Given the description of an element on the screen output the (x, y) to click on. 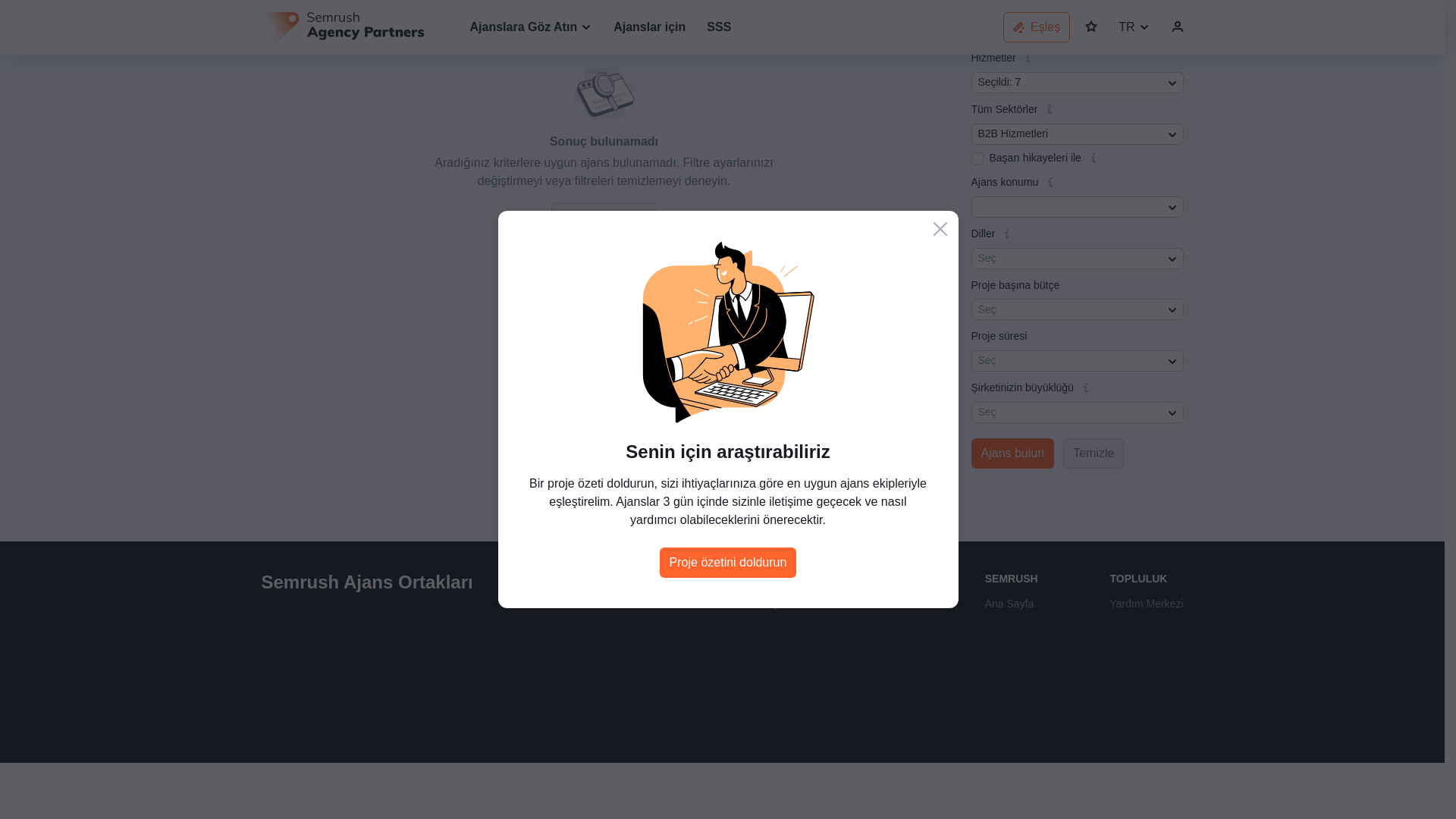
Close (940, 28)
